Given the description of an element on the screen output the (x, y) to click on. 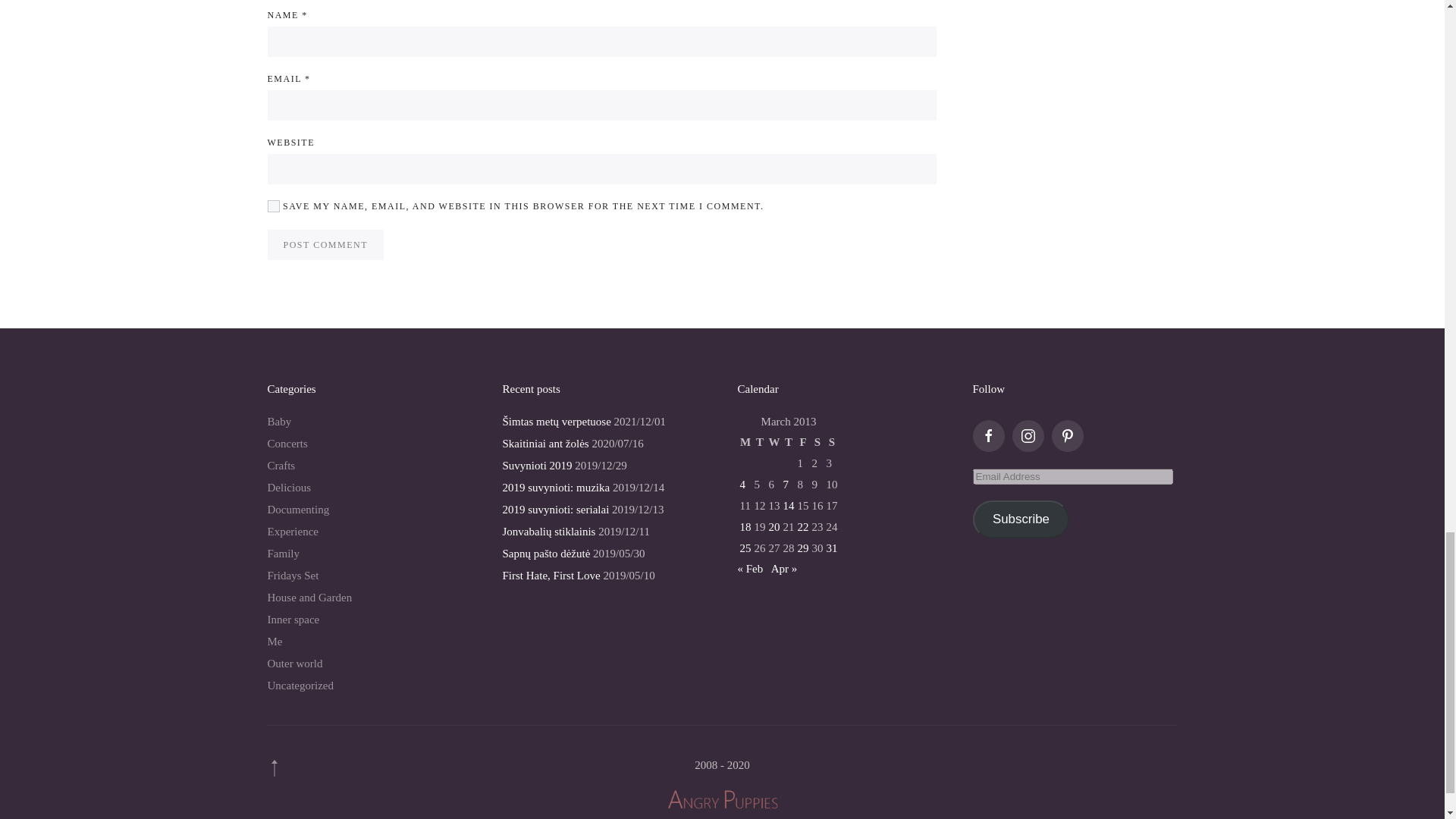
yes (272, 205)
POST COMMENT (324, 245)
